Given the description of an element on the screen output the (x, y) to click on. 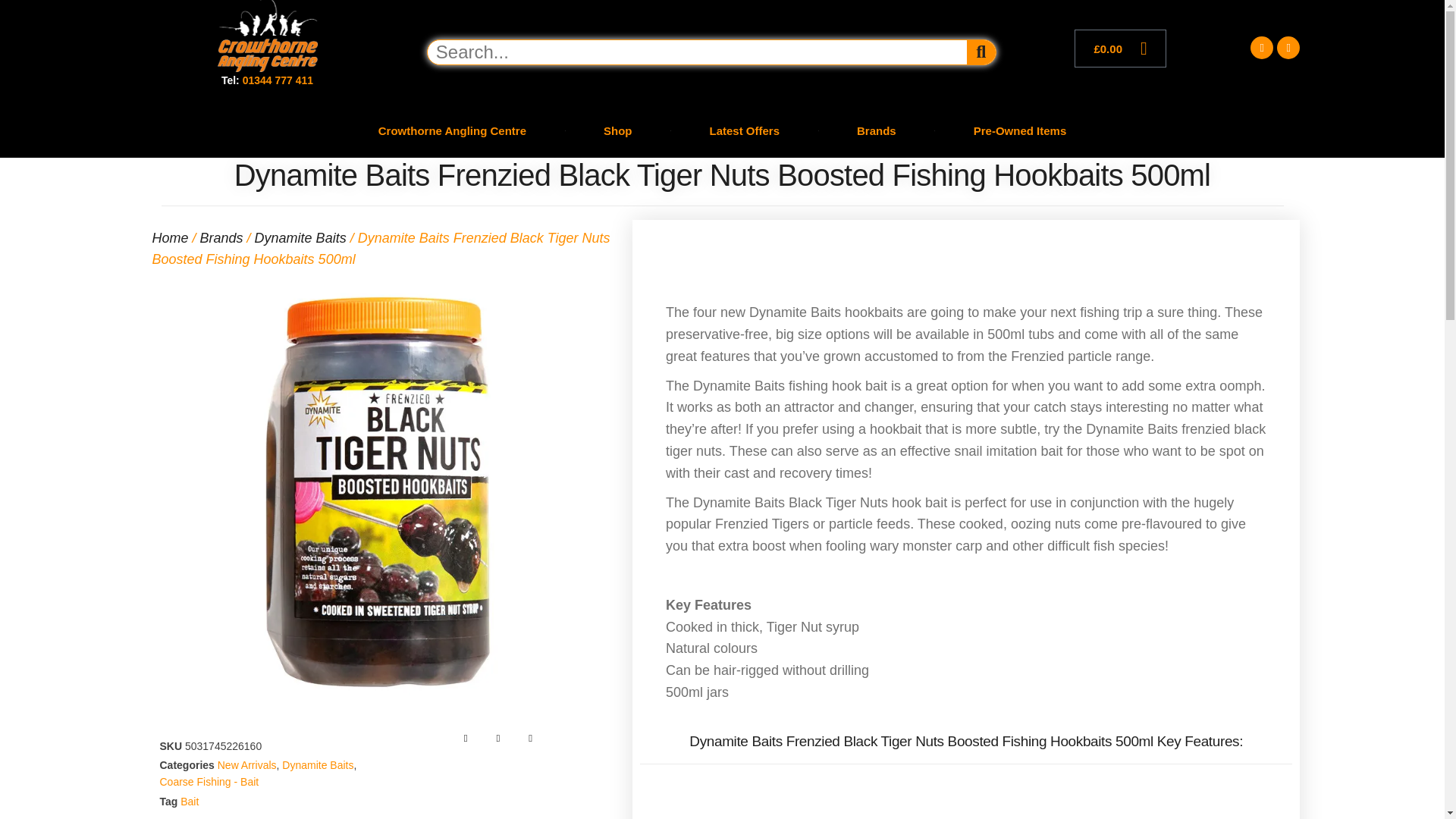
01344 777 411 (278, 80)
Crowthorne Angling (266, 36)
Latest Offers (745, 130)
Dynamite Baits (300, 237)
Bait (189, 801)
New Arrivals (246, 765)
Brands (876, 130)
Shop (617, 130)
Home (169, 237)
Dynamite Baits (317, 765)
